Given the description of an element on the screen output the (x, y) to click on. 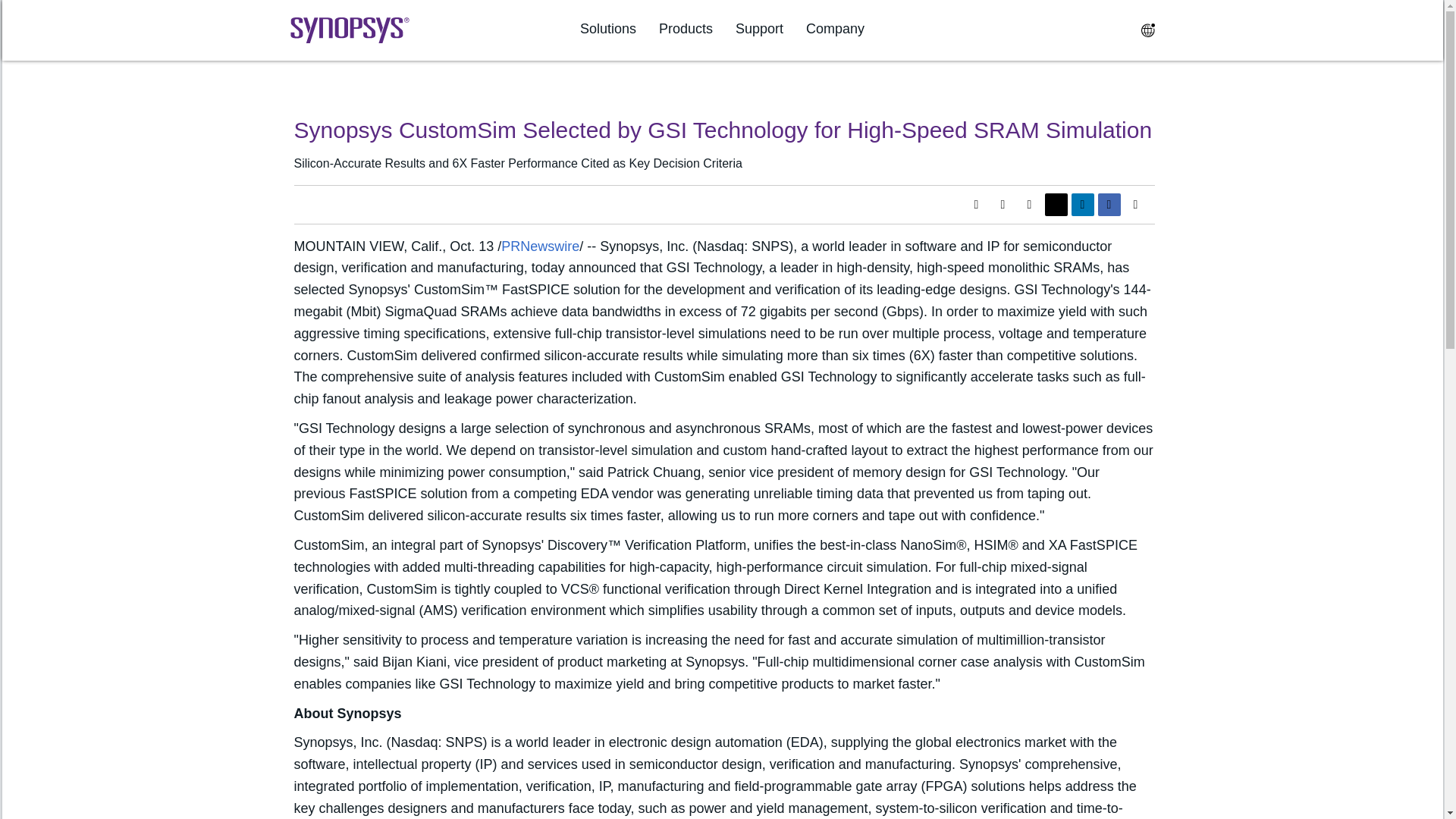
Solutions (607, 28)
Company (835, 28)
Twitter Share (1056, 204)
pdf (975, 204)
rss (1002, 204)
Support (759, 28)
print (1029, 204)
Products (686, 28)
Linkedin Share (1081, 204)
Facebook Share (1109, 204)
